Given the description of an element on the screen output the (x, y) to click on. 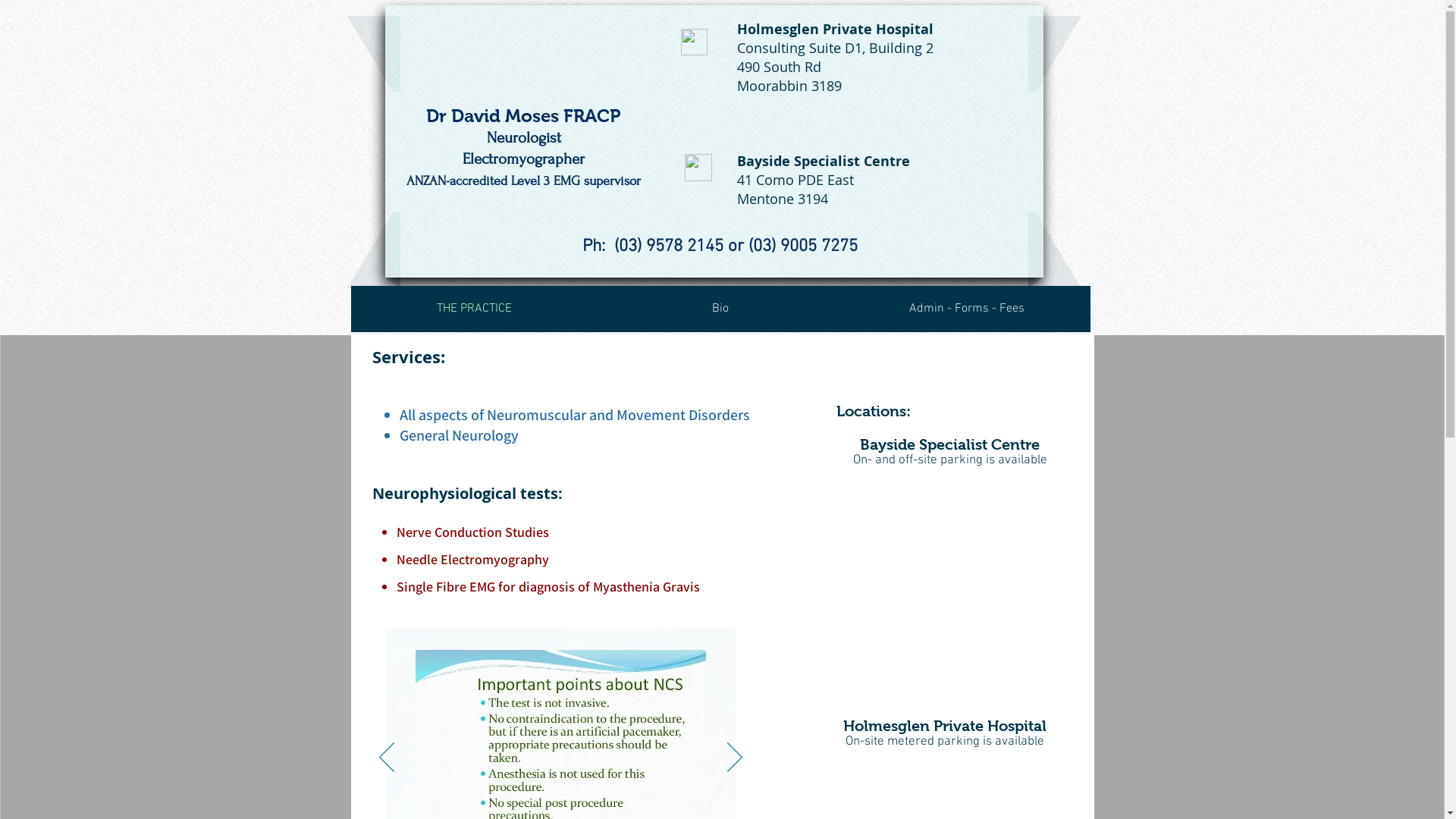
Google Maps Element type: hover (943, 576)
Bio Element type: text (720, 308)
Admin - Forms - Fees Element type: text (966, 308)
THE PRACTICE Element type: text (473, 308)
